Given the description of an element on the screen output the (x, y) to click on. 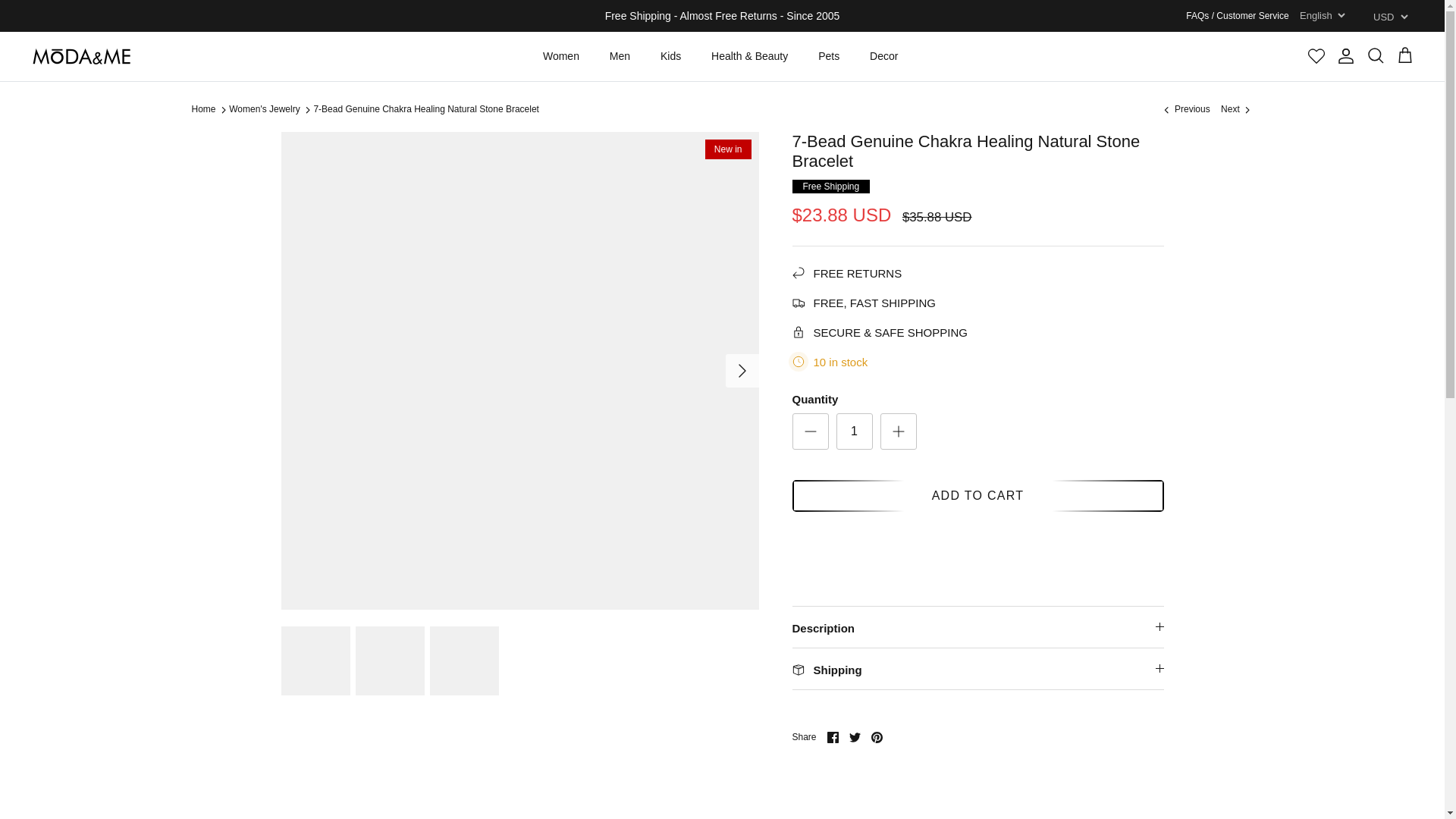
Pets (829, 56)
Account (1345, 55)
Plus (897, 431)
Women (560, 56)
Minus (809, 431)
Search (1375, 55)
Kids (670, 56)
MODAndME  (81, 56)
Cart (1404, 55)
Facebook (832, 737)
Women's 14kt Gold Flash Plated Stone Tree Layered Bracelet (1184, 109)
Decor (883, 56)
Twitter (854, 737)
RIGHT (741, 370)
